Given the description of an element on the screen output the (x, y) to click on. 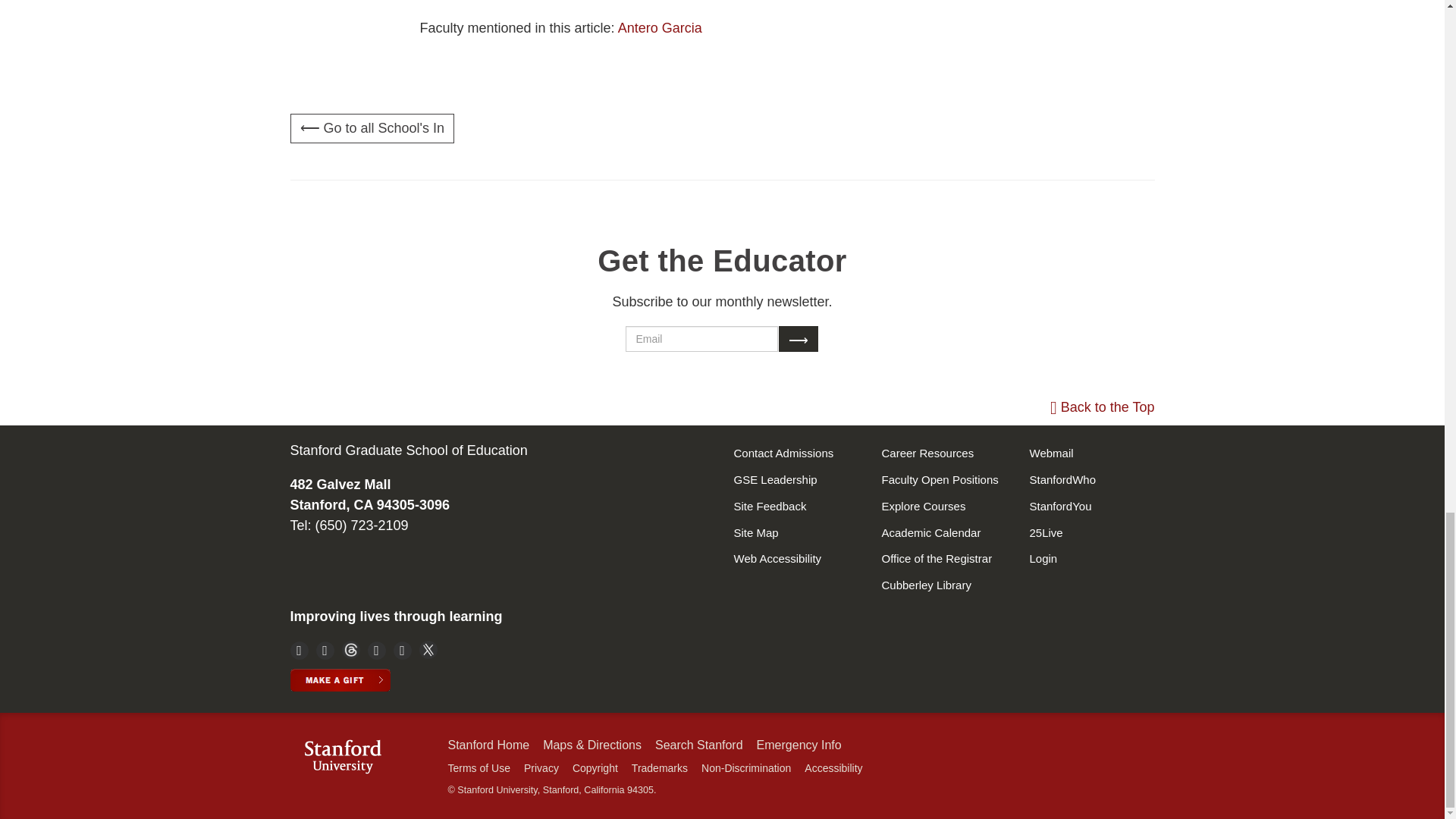
Back to the Top (1101, 406)
StanfordYou (1091, 506)
Ownership and use of Stanford trademarks and images (659, 767)
StanfordWho (1091, 479)
Report web accessibility issues (833, 767)
Privacy and cookie policy (541, 767)
SUSE Webmail (1091, 533)
Terms of use for sites (477, 767)
Non-discrimination policy (745, 767)
Site Feedback (796, 506)
Report alleged copyright infringement (594, 767)
